Given the description of an element on the screen output the (x, y) to click on. 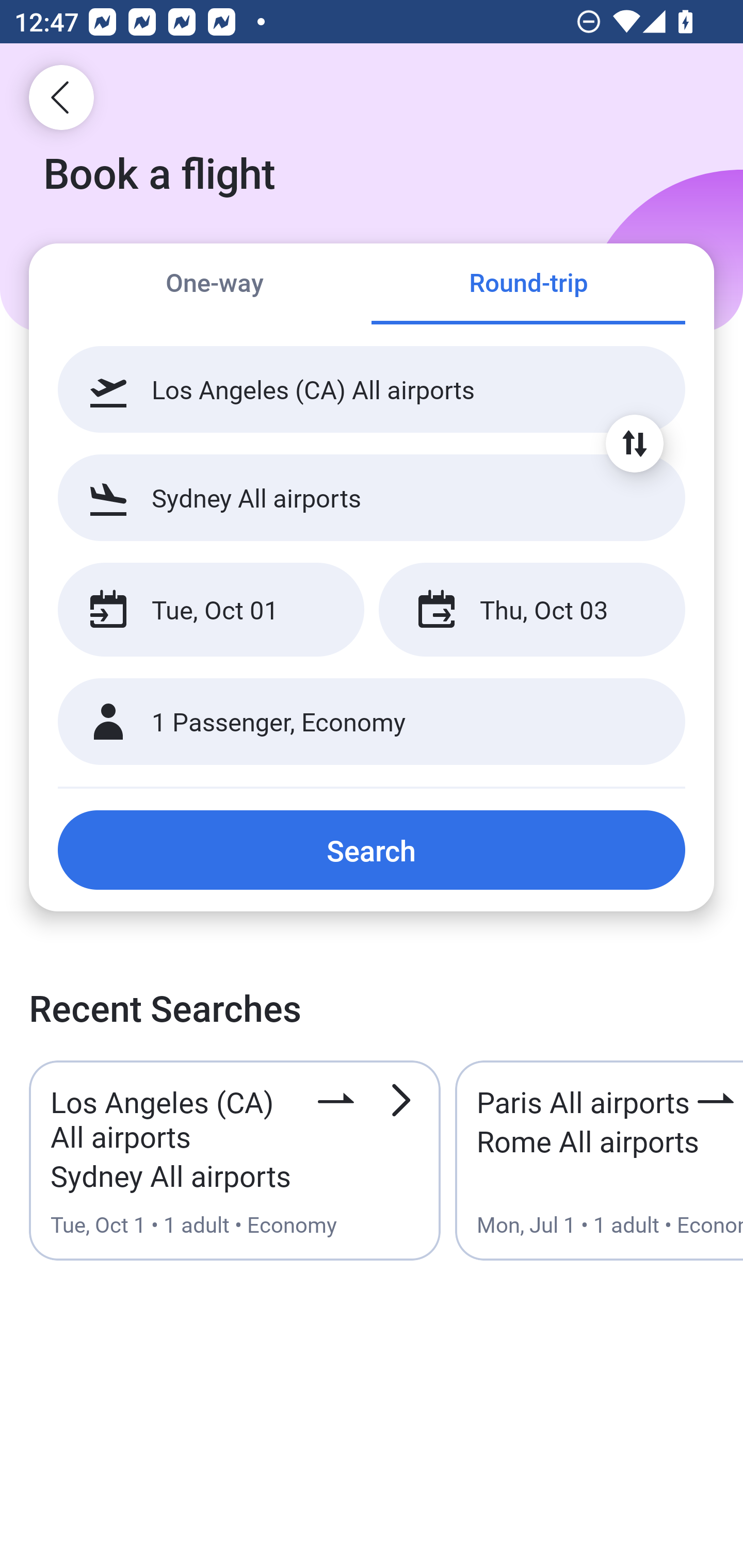
One-way (214, 284)
Los Angeles (CA) All airports (371, 389)
Sydney All airports (371, 497)
Tue, Oct 01 (210, 609)
Thu, Oct 03 (531, 609)
1 Passenger, Economy (371, 721)
Search (371, 849)
